Given the description of an element on the screen output the (x, y) to click on. 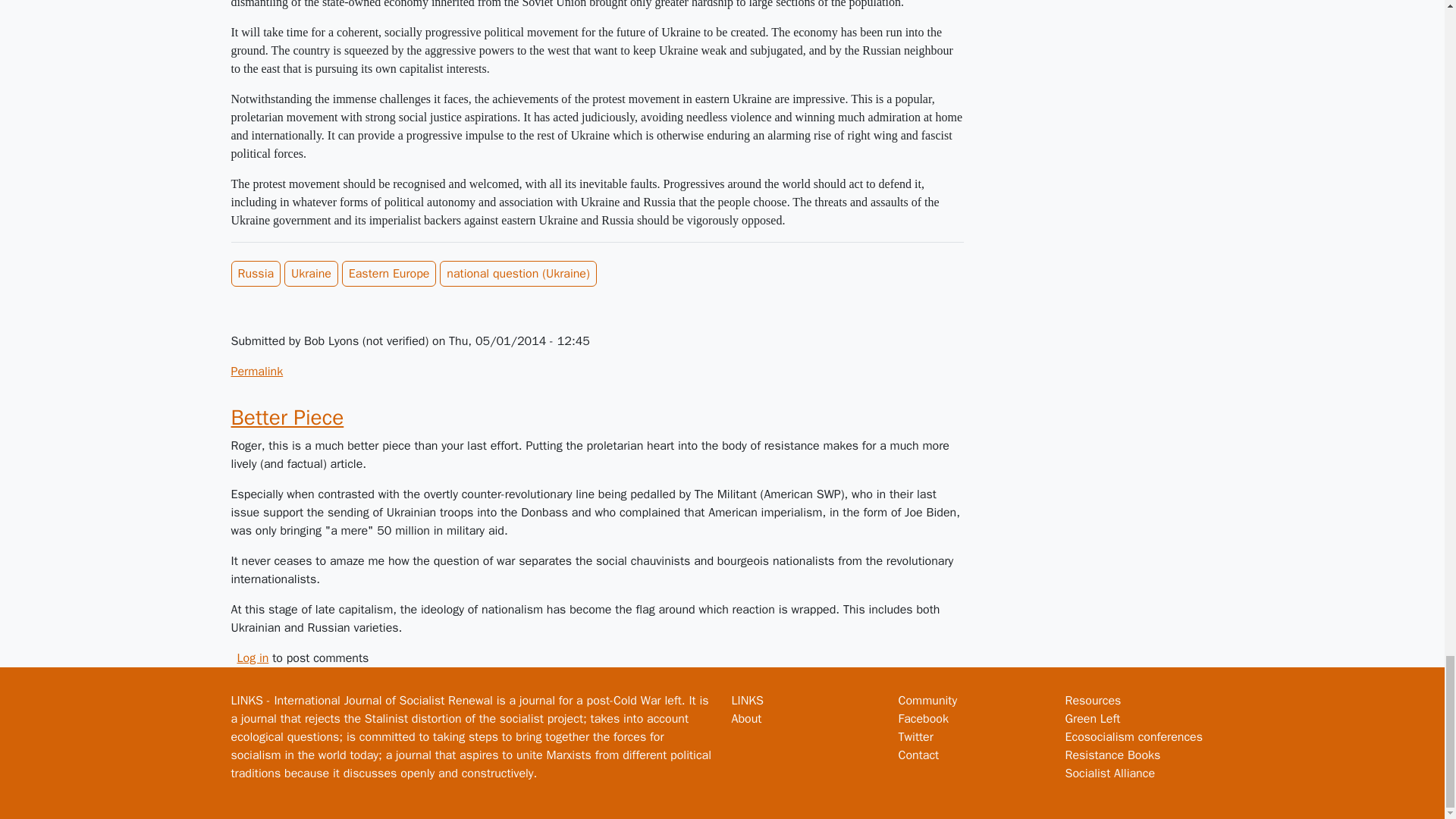
Russia (255, 273)
Eastern Europe (389, 273)
Ukraine (310, 273)
